Given the description of an element on the screen output the (x, y) to click on. 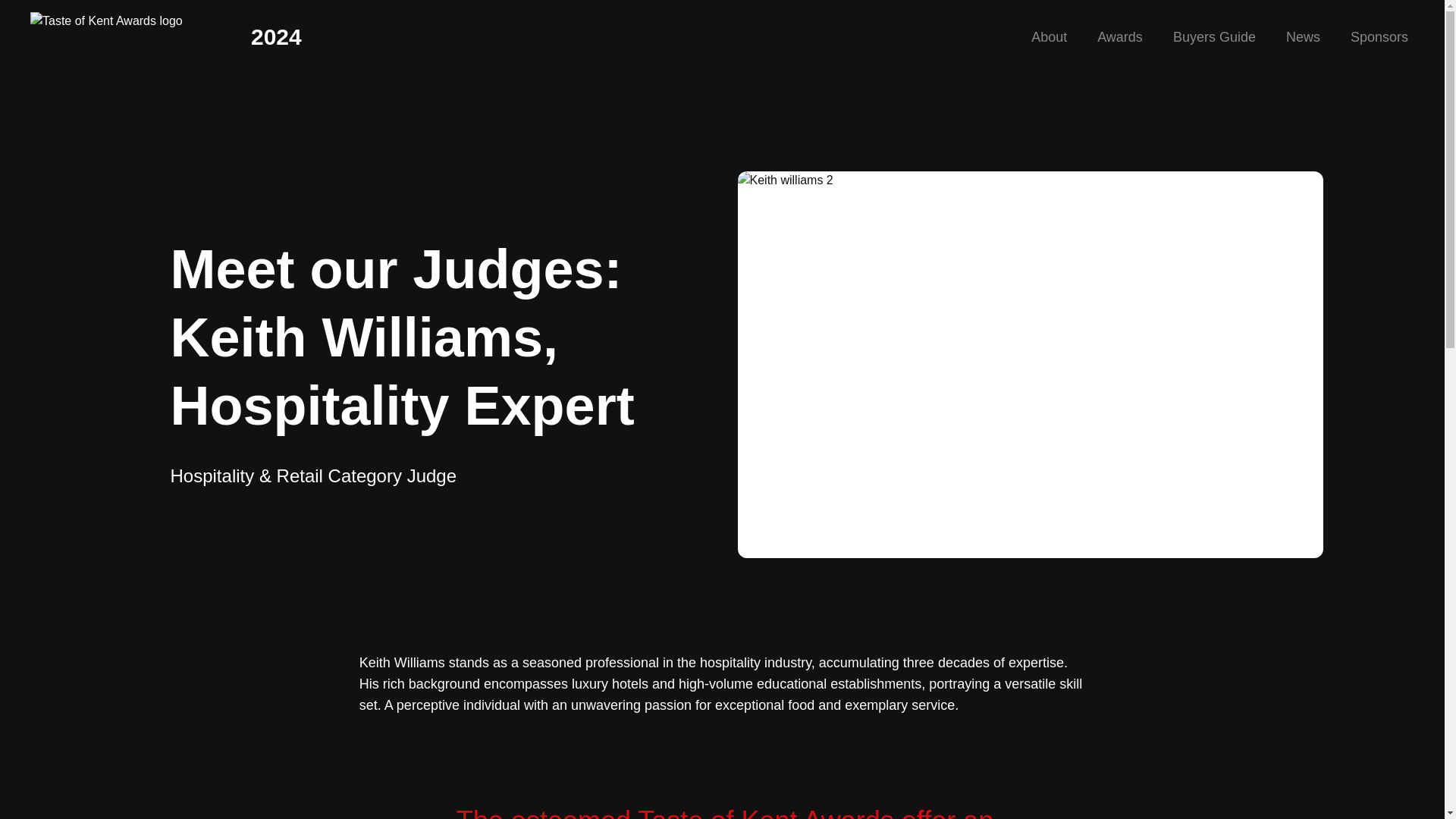
Awards (1119, 37)
Buyers Guide (1214, 37)
Sponsors (1379, 37)
News (1302, 37)
About (1048, 37)
